Given the description of an element on the screen output the (x, y) to click on. 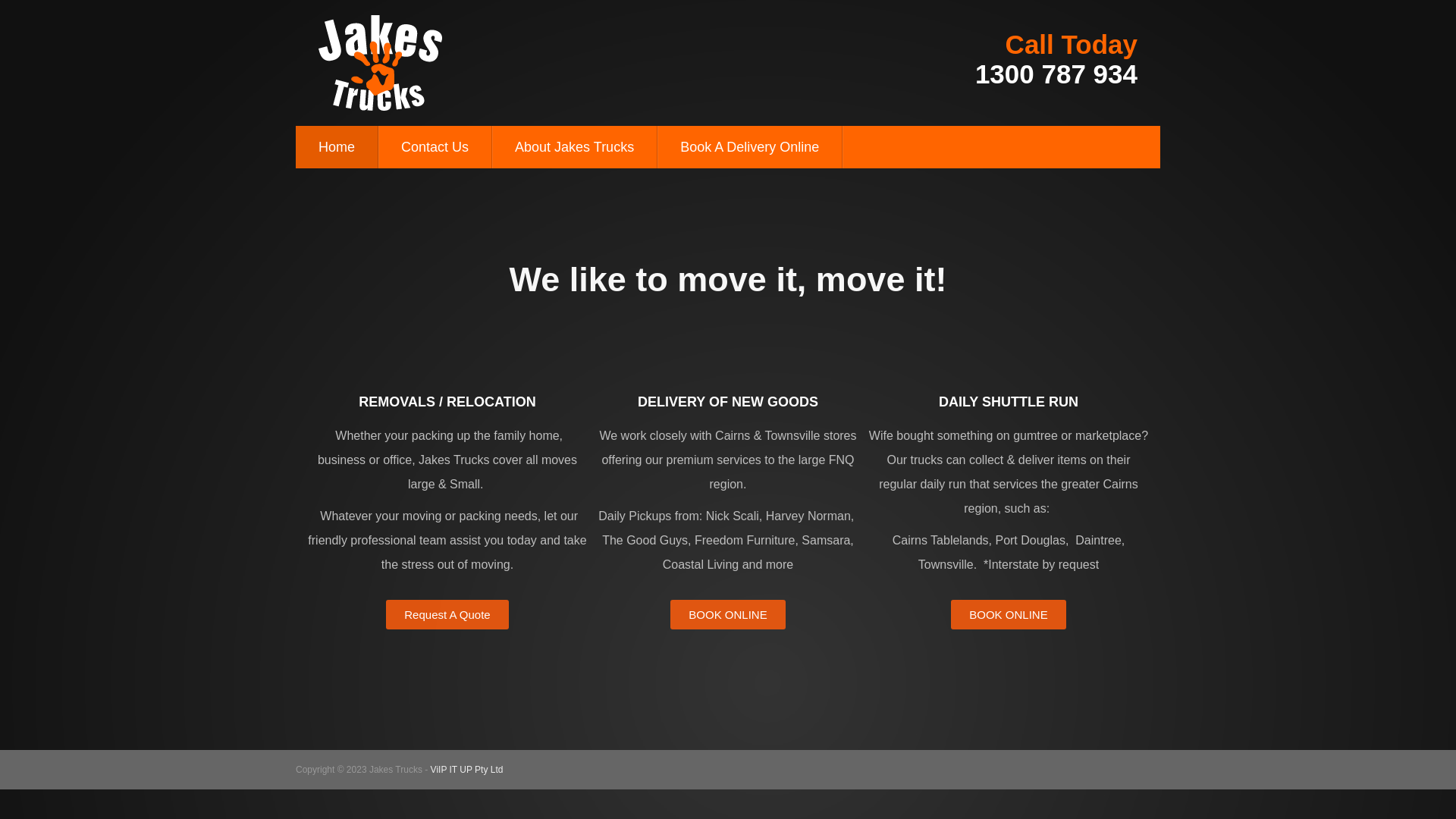
Request A Quote Element type: text (446, 614)
Contact Us Element type: text (435, 146)
BOOK ONLINE Element type: text (727, 614)
1300 787 934 Element type: text (1056, 73)
About Jakes Trucks Element type: text (574, 146)
BOOK ONLINE Element type: text (1007, 614)
ViIP IT UP Pty Ltd Element type: text (466, 769)
Home Element type: text (336, 146)
Book A Delivery Online Element type: text (749, 146)
